Given the description of an element on the screen output the (x, y) to click on. 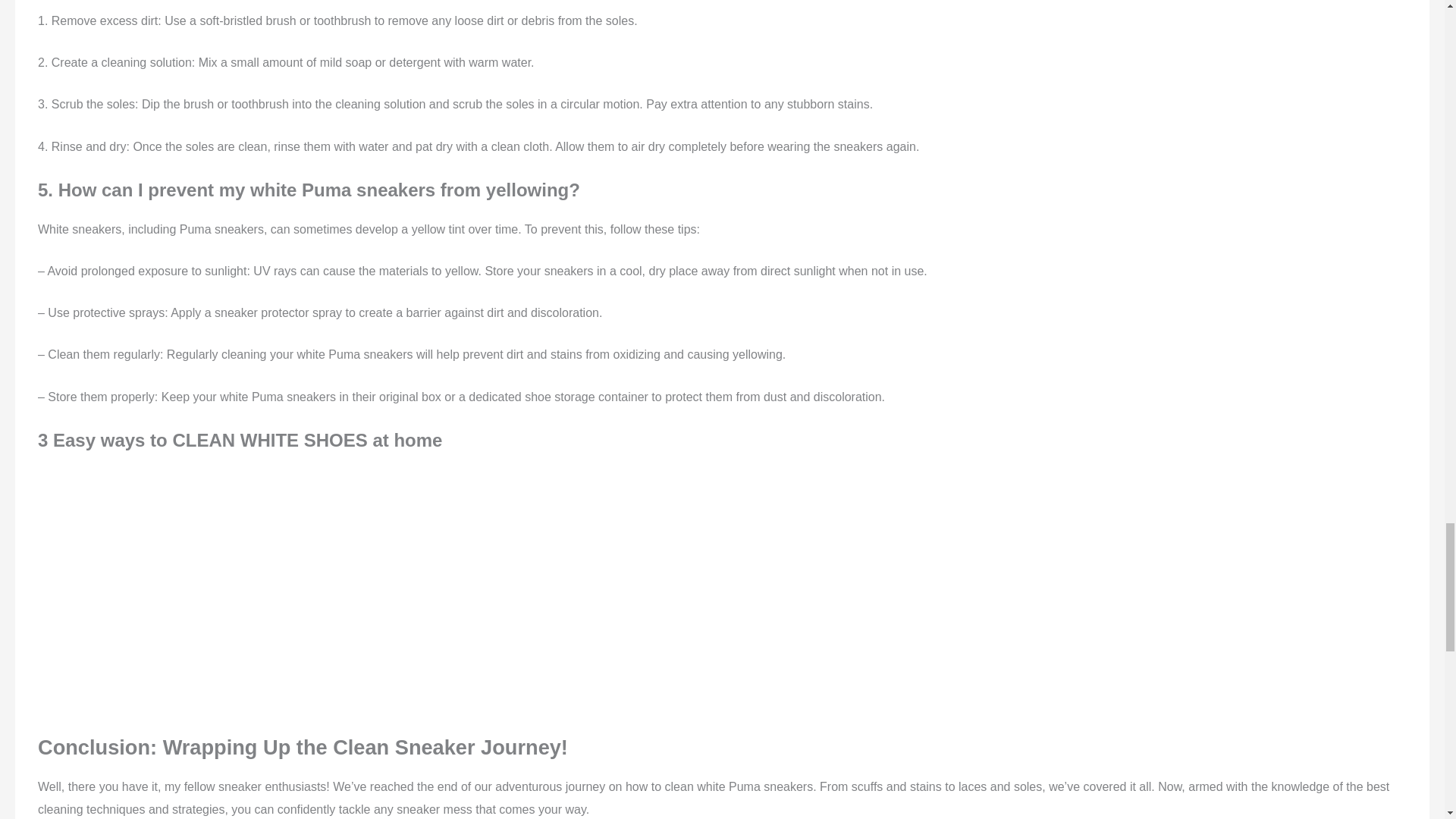
3 Easy ways to CLEAN WHITE SHOES at home (250, 587)
